Given the description of an element on the screen output the (x, y) to click on. 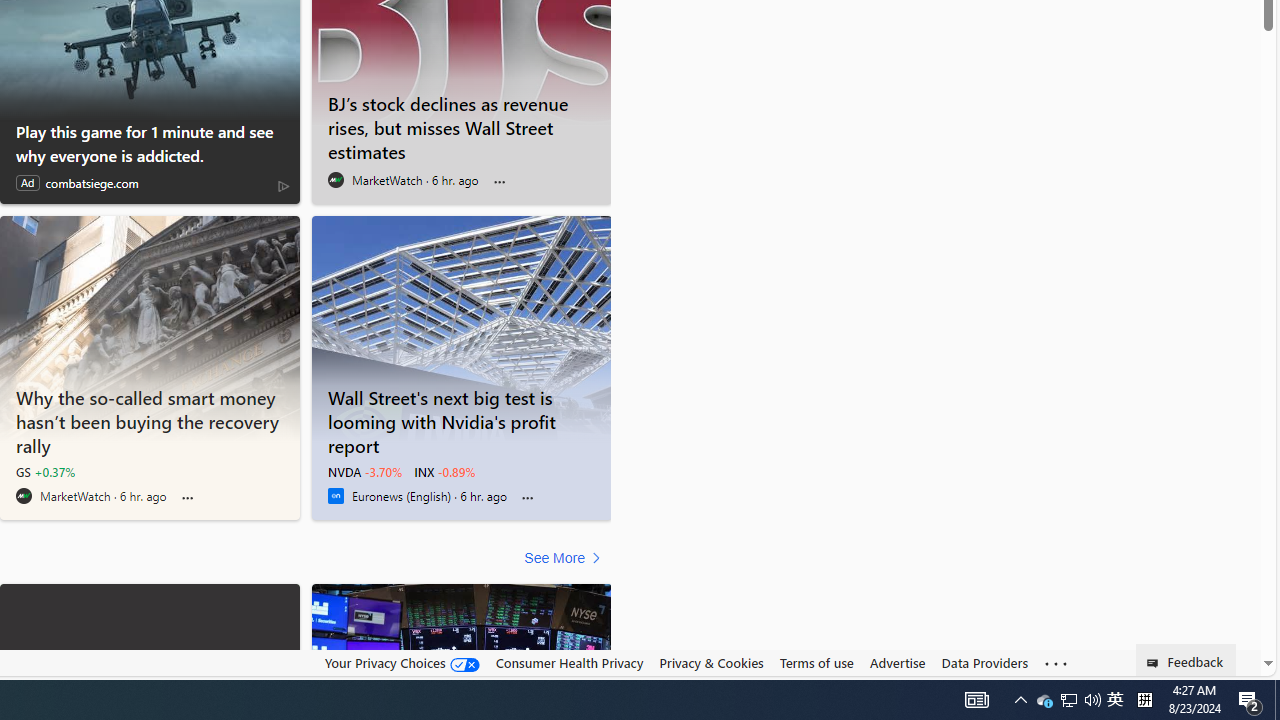
See More (565, 557)
Class: oneFooter_seeMore-DS-EntryPoint1-1 (1055, 663)
